Given the description of an element on the screen output the (x, y) to click on. 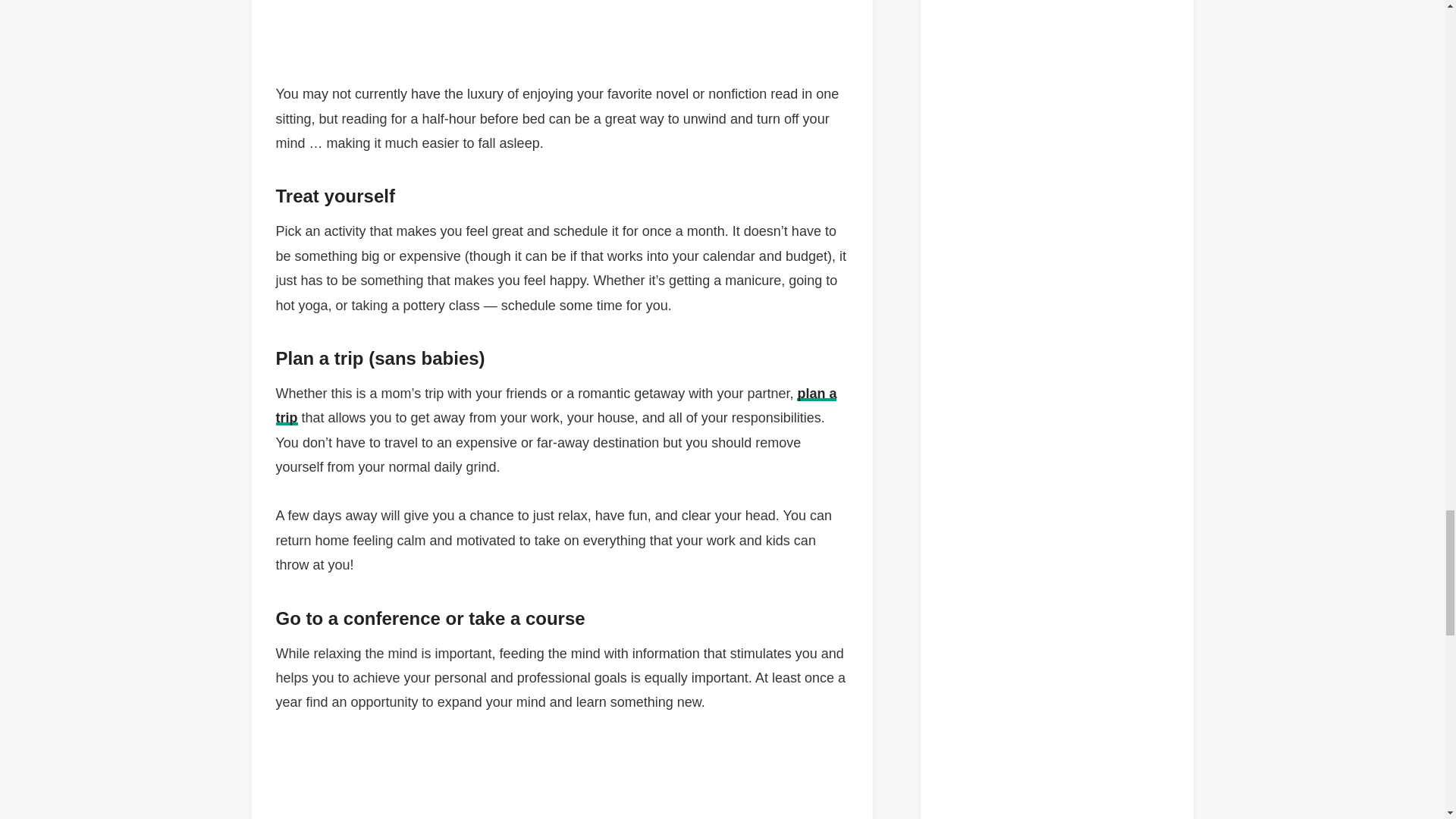
plan a trip (556, 405)
